Given the description of an element on the screen output the (x, y) to click on. 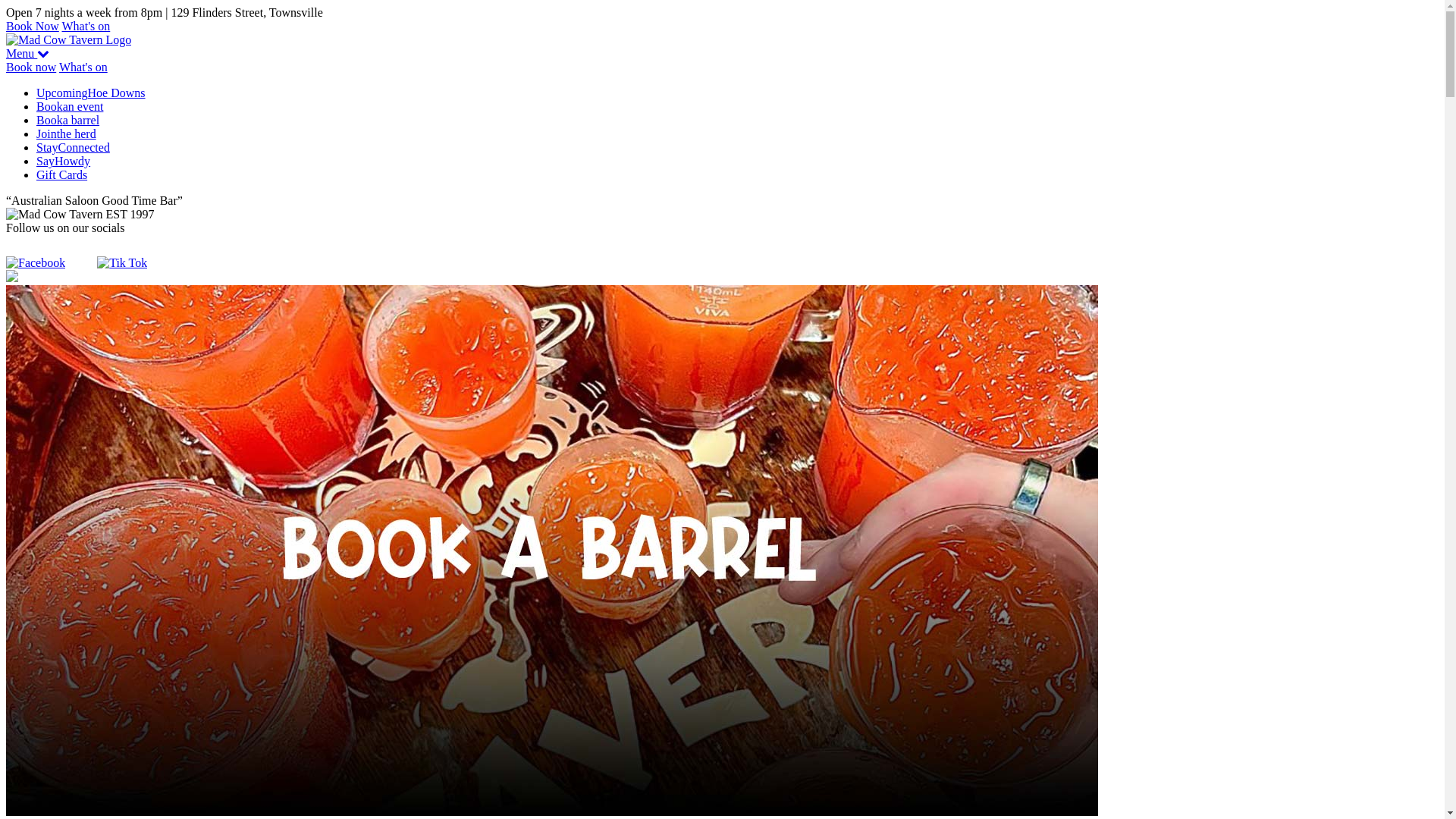
Menu Element type: text (27, 53)
What's on Element type: text (83, 66)
Book Now Element type: text (32, 25)
Bookan event Element type: text (69, 106)
Gift Cards Element type: text (61, 174)
Book now Element type: text (31, 66)
StayConnected Element type: text (72, 147)
Jointhe herd Element type: text (66, 133)
What's on Element type: text (86, 25)
UpcomingHoe Downs Element type: text (90, 92)
Booka barrel Element type: text (67, 119)
SayHowdy Element type: text (63, 160)
